Given the description of an element on the screen output the (x, y) to click on. 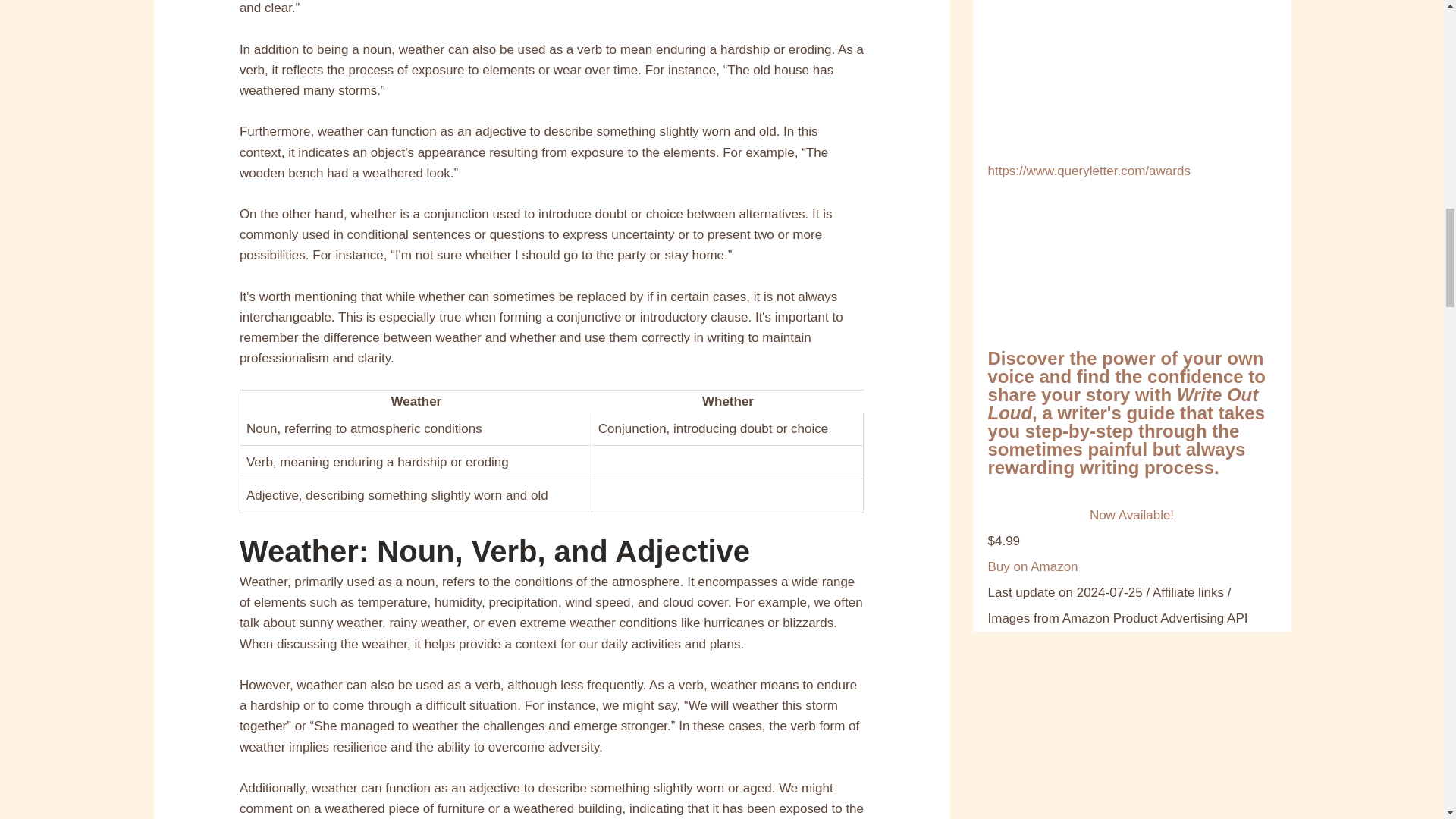
Now Available! (1131, 515)
Buy on Amazon (1032, 566)
